Given the description of an element on the screen output the (x, y) to click on. 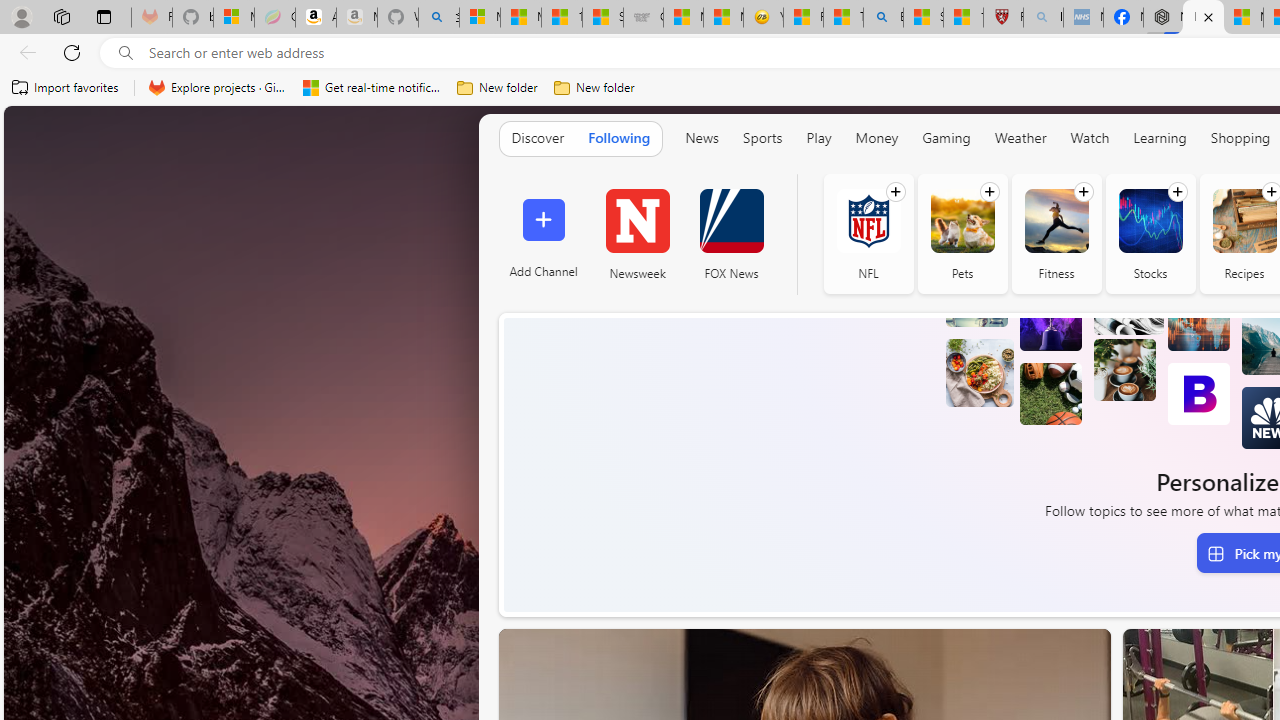
NFL (868, 233)
Bing (883, 17)
Add Channel (542, 233)
